Given the description of an element on the screen output the (x, y) to click on. 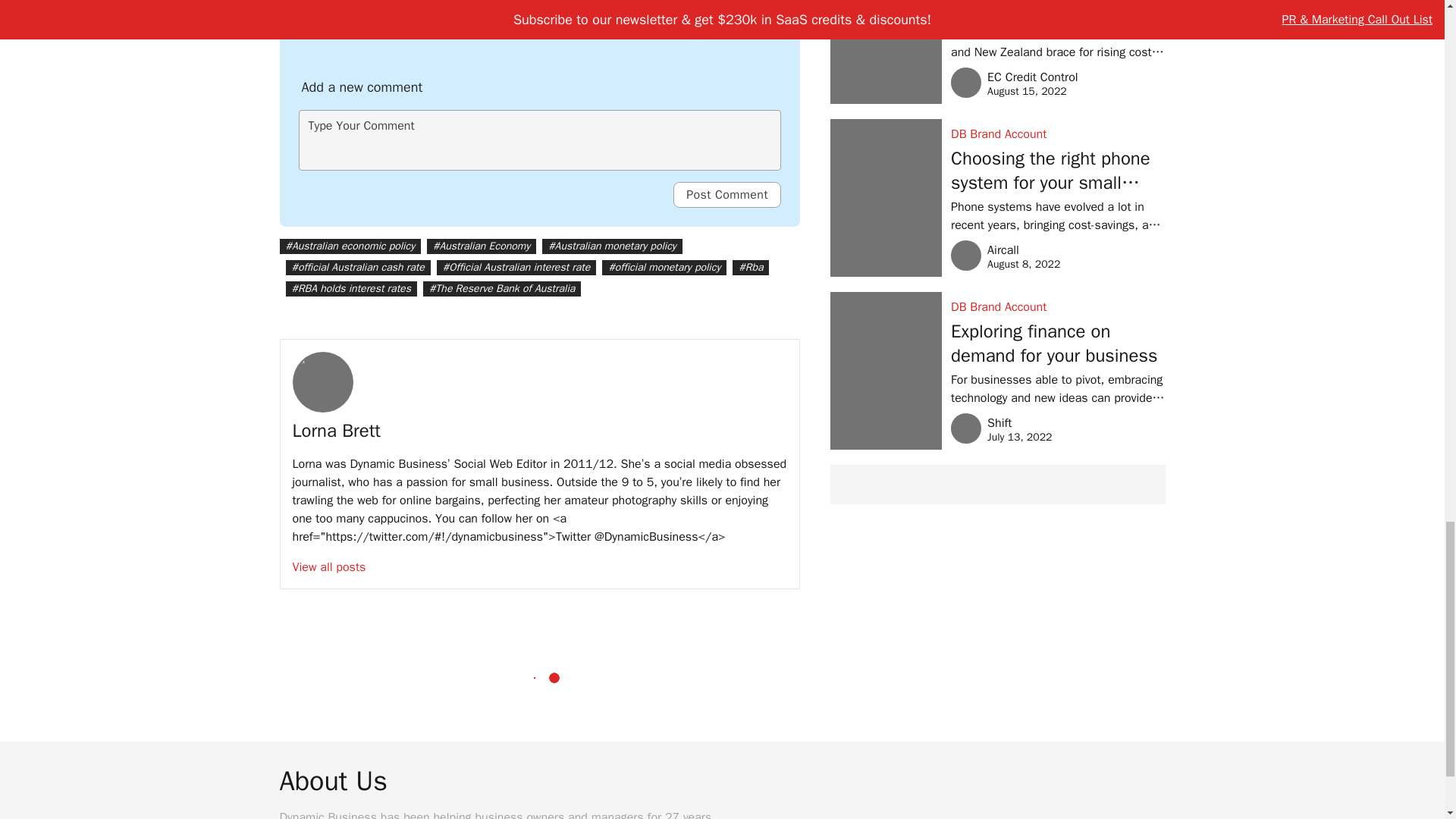
Post Comment (726, 194)
